Given the description of an element on the screen output the (x, y) to click on. 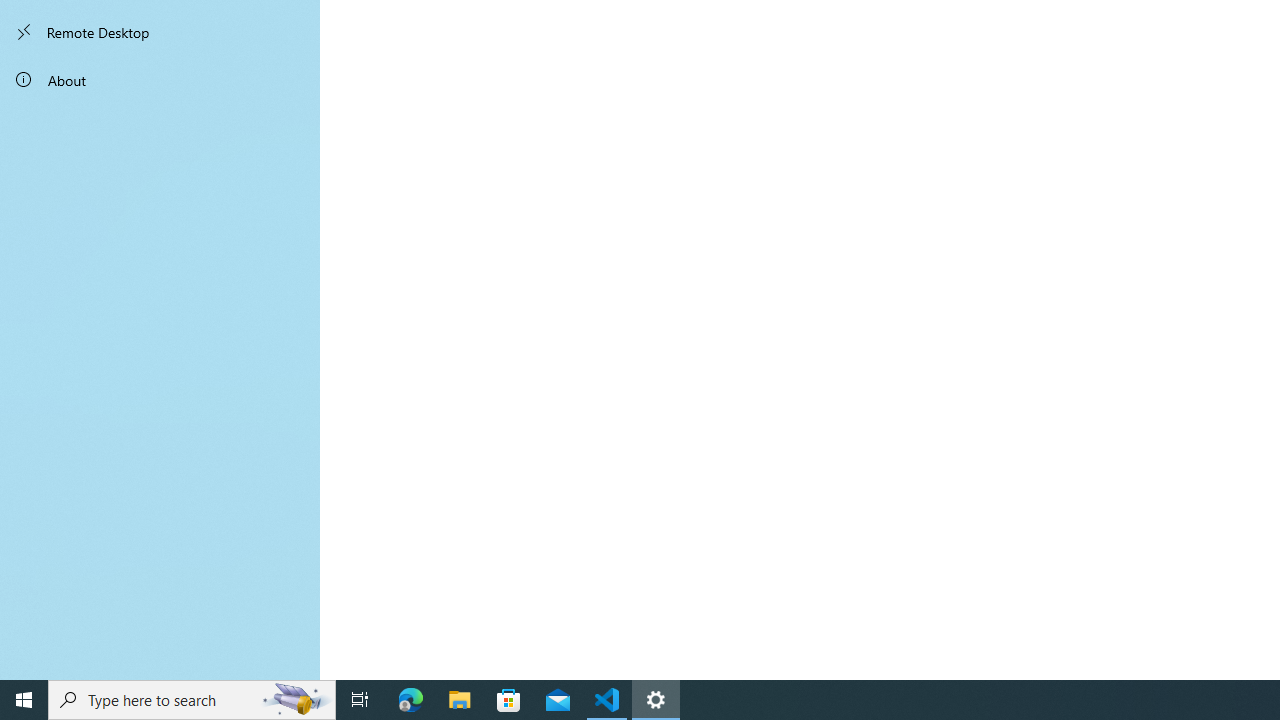
About (160, 79)
Settings - 1 running window (656, 699)
Remote Desktop (160, 31)
